Given the description of an element on the screen output the (x, y) to click on. 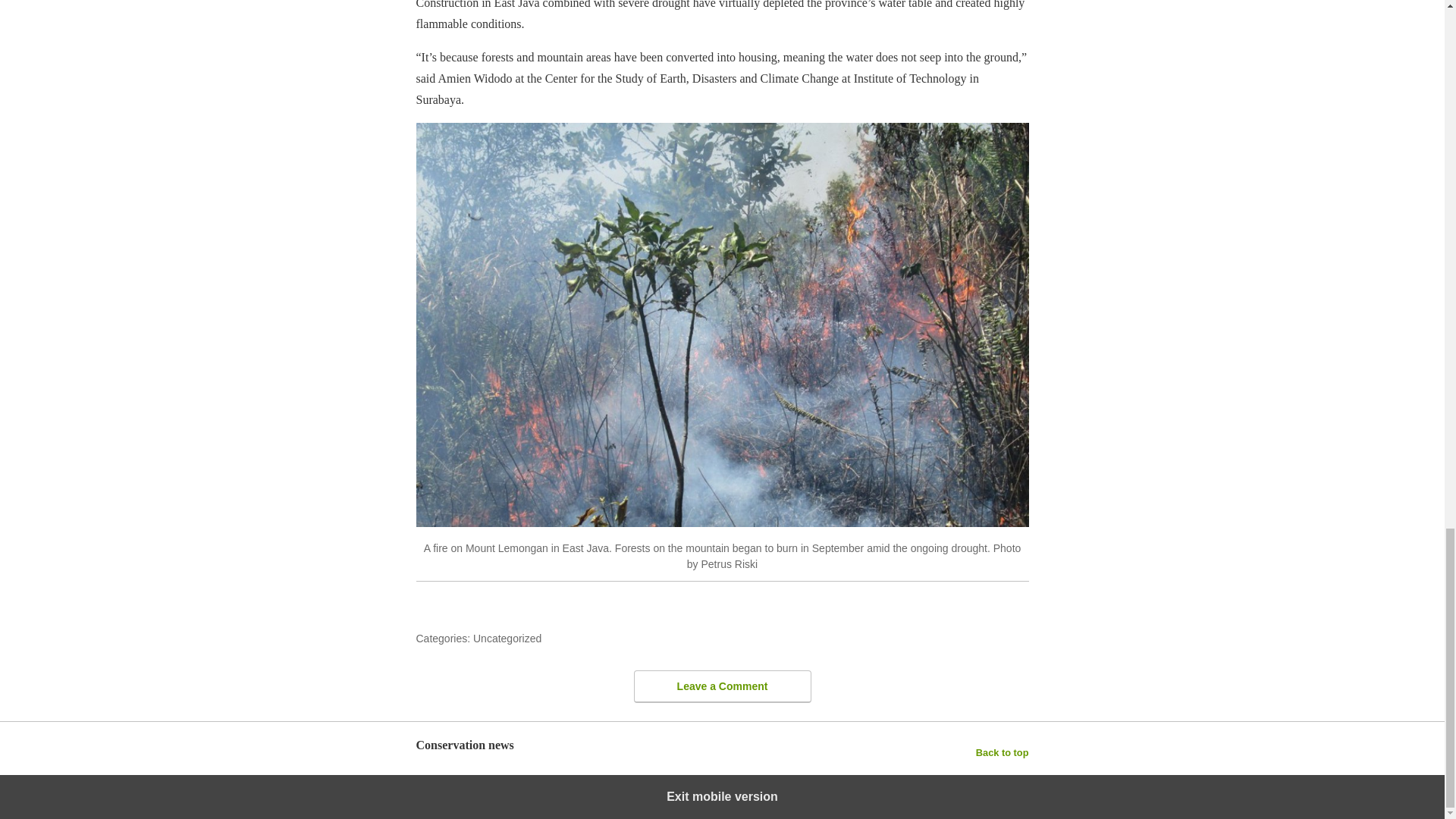
Leave a Comment (721, 686)
Back to top (1002, 752)
